Given the description of an element on the screen output the (x, y) to click on. 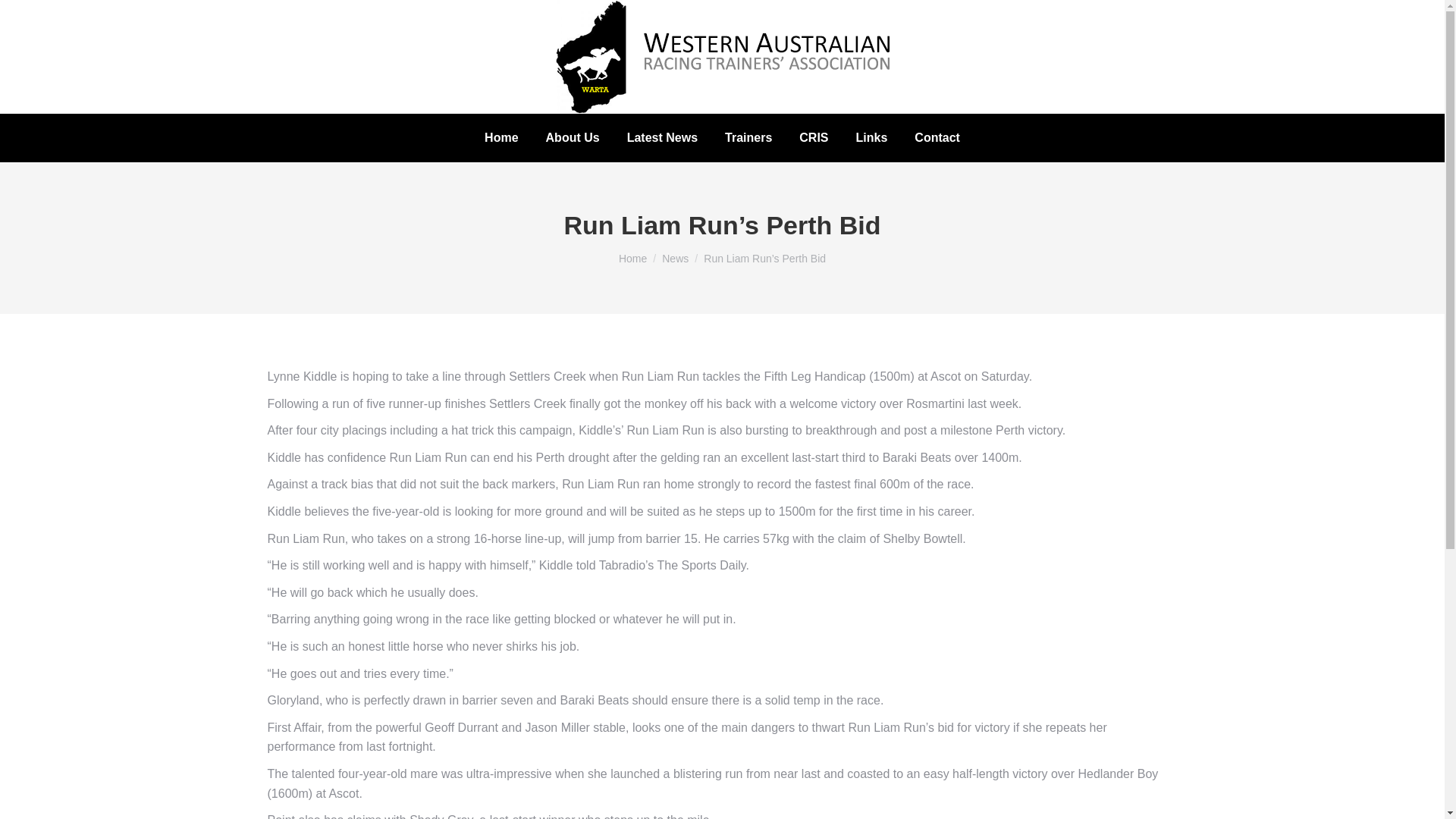
Contact (936, 137)
Latest News (662, 137)
Home (501, 137)
CRIS (813, 137)
Links (872, 137)
About Us (572, 137)
News (675, 258)
Home (632, 258)
Trainers (748, 137)
